Given the description of an element on the screen output the (x, y) to click on. 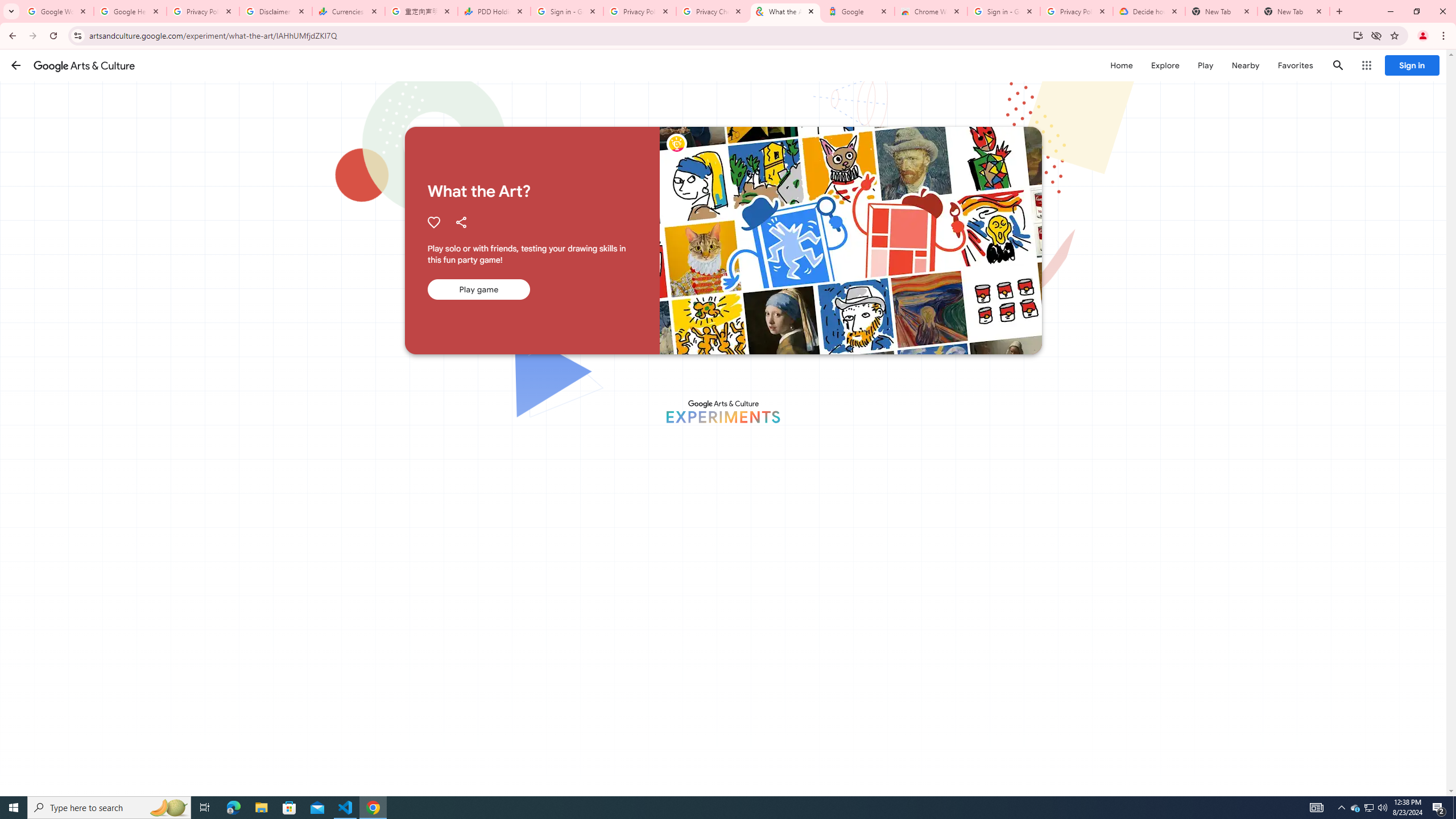
View site information (77, 35)
Install Google Arts & Culture (1358, 35)
Third-party cookies blocked (1376, 35)
Authenticate to favorite this asset. (432, 221)
You (1422, 35)
Nearby (1244, 65)
Chrome (1445, 35)
Forward (32, 35)
New Tab (1338, 11)
Google apps (1366, 65)
Back (10, 35)
Chrome Web Store - Color themes by Chrome (930, 11)
Reload (52, 35)
